Given the description of an element on the screen output the (x, y) to click on. 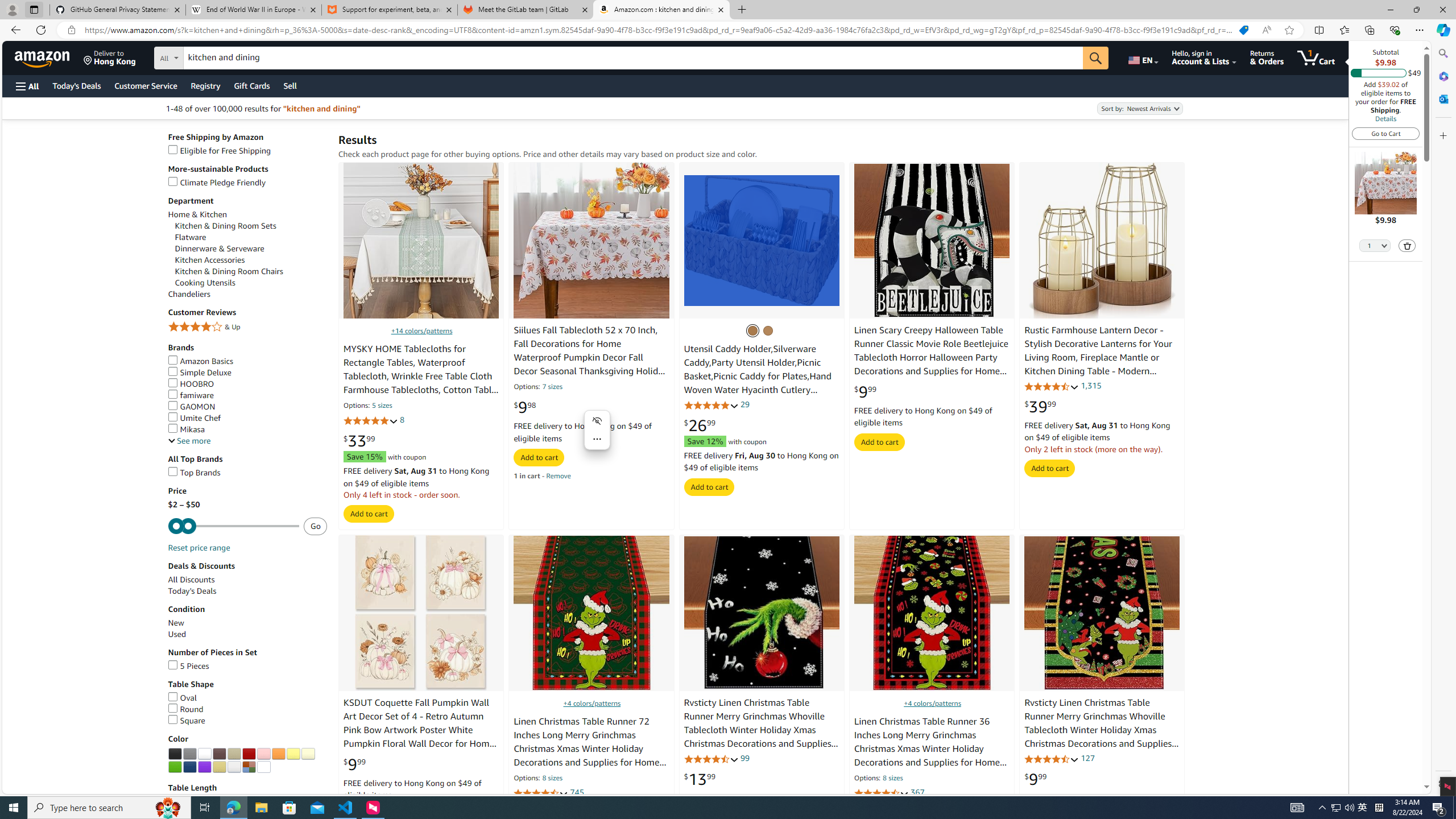
Sell (290, 85)
Chandeliers (247, 293)
Today's Deals (247, 591)
Quantity Selector (1374, 245)
Blue (189, 766)
All Discounts (247, 579)
New (247, 623)
Search Amazon (633, 57)
Gold (218, 766)
Search in (210, 56)
